Given the description of an element on the screen output the (x, y) to click on. 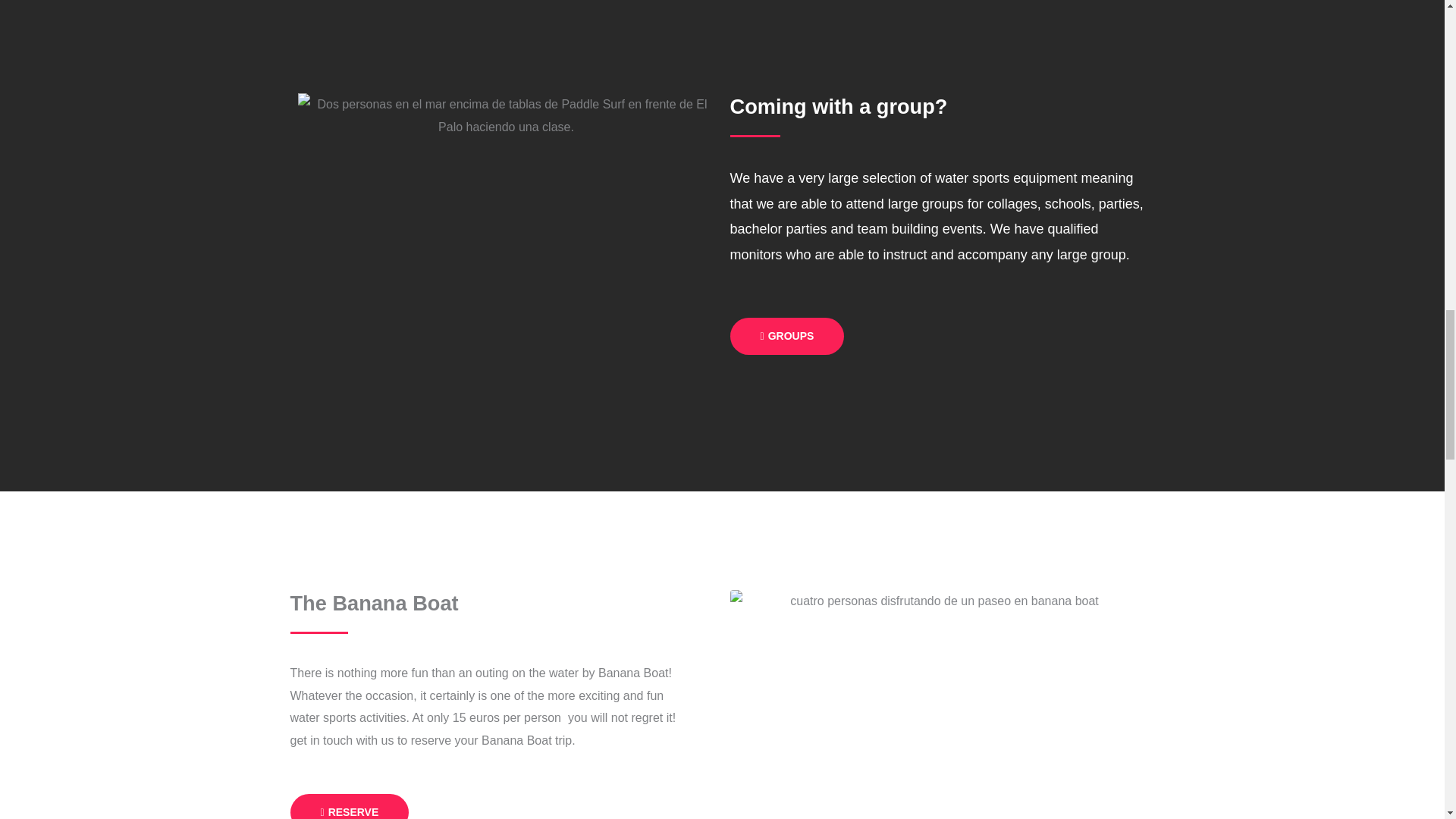
RESERVE (349, 806)
GROUPS (786, 335)
